Given the description of an element on the screen output the (x, y) to click on. 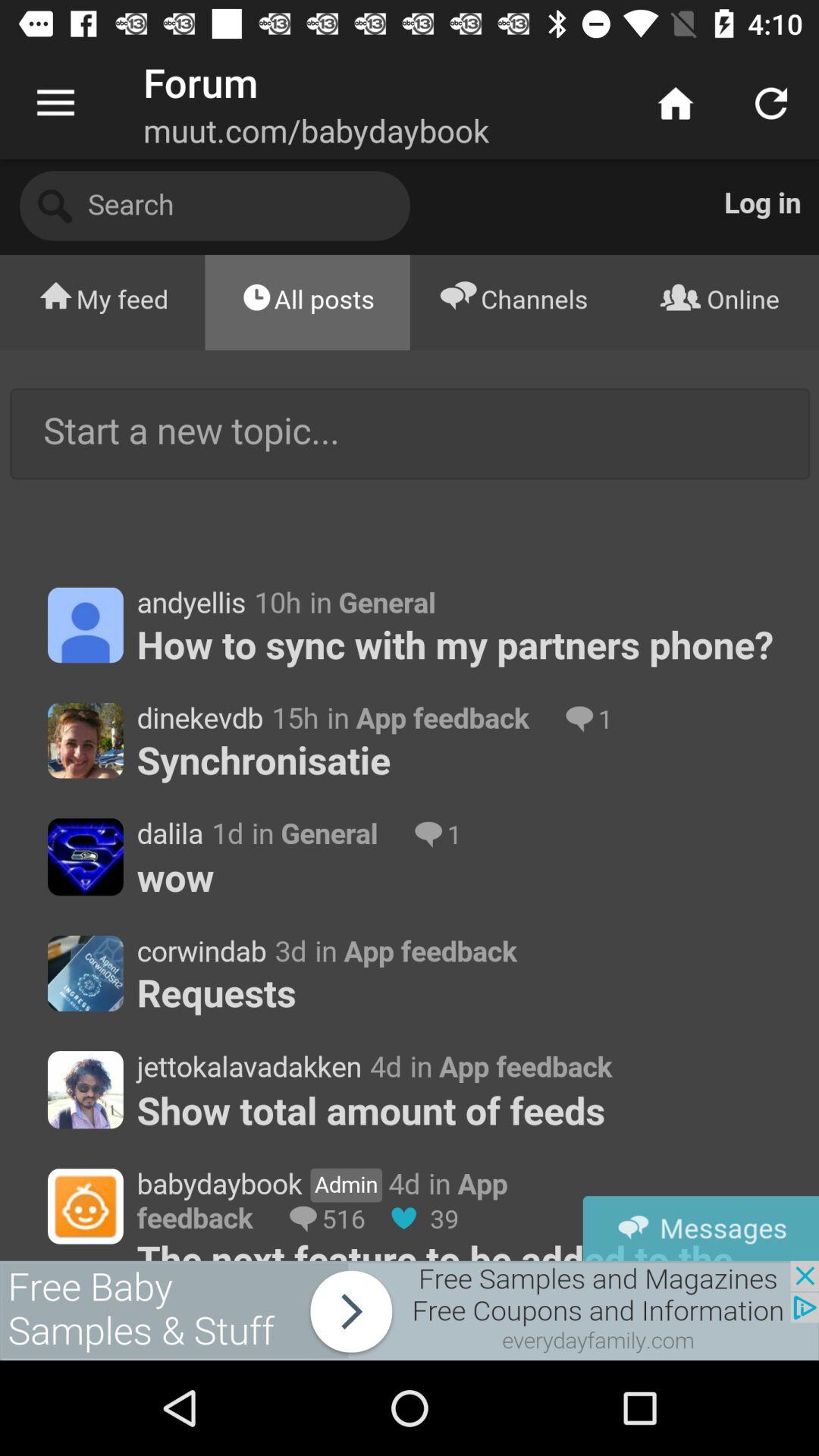
forwot (409, 1310)
